Given the description of an element on the screen output the (x, y) to click on. 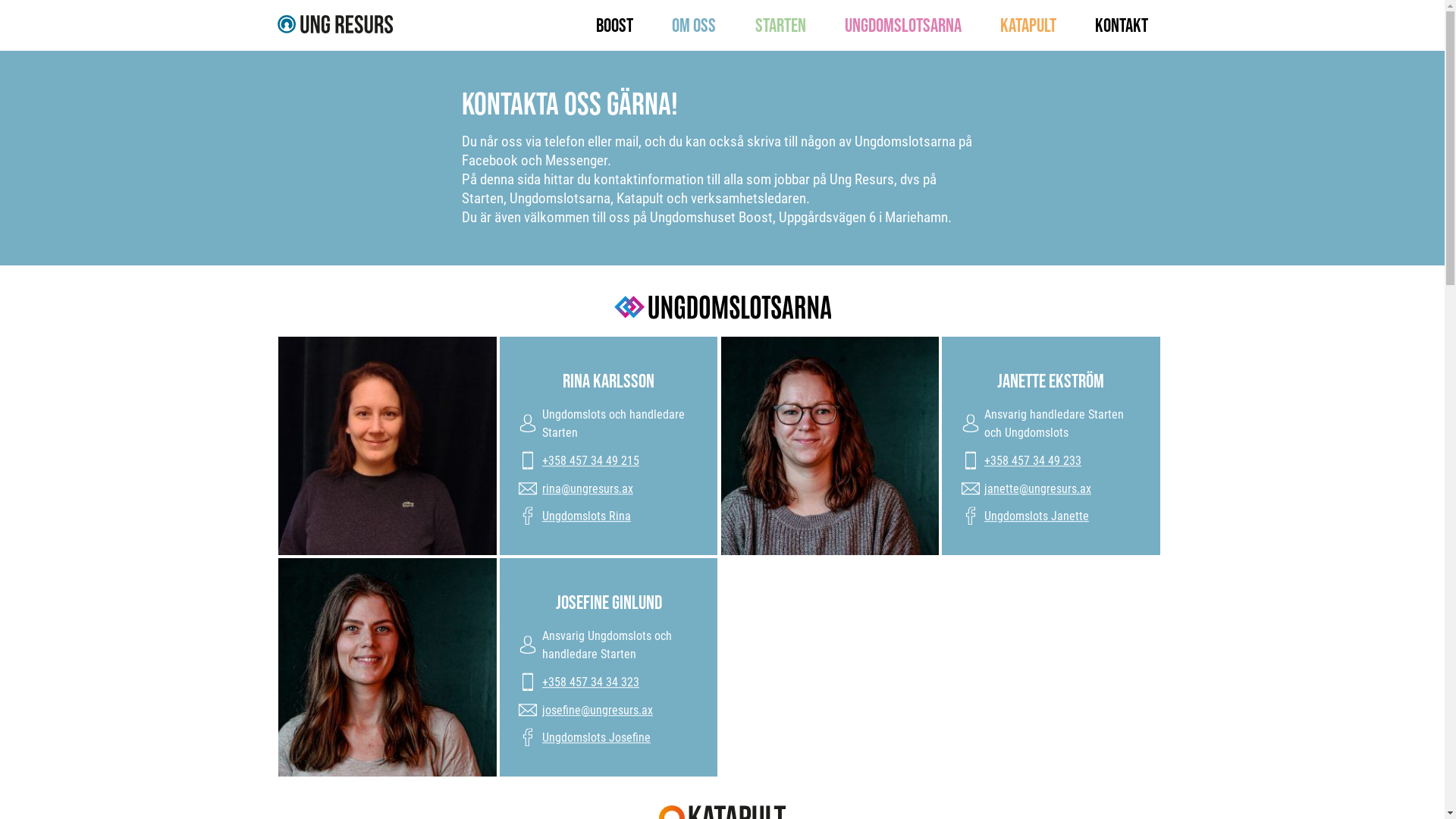
+358 457 34 34 323 Element type: text (590, 681)
Ungdomslots Rina Element type: text (574, 516)
Ung Resurs Element type: text (334, 23)
Ungdomslots Josefine Element type: text (583, 737)
josefine@ungresurs.ax Element type: text (585, 709)
Ungdomslotsarna Element type: text (902, 25)
+358 457 34 49 233 Element type: text (1032, 460)
Kontakt Element type: text (1121, 25)
Katapult Element type: text (1028, 25)
Om oss Element type: text (693, 25)
Ungdomslots Janette Element type: text (1024, 516)
Boost Element type: text (614, 25)
janette@ungresurs.ax Element type: text (1026, 488)
+358 457 34 49 215 Element type: text (590, 460)
Starten Element type: text (780, 25)
rina@ungresurs.ax Element type: text (575, 488)
